Given the description of an element on the screen output the (x, y) to click on. 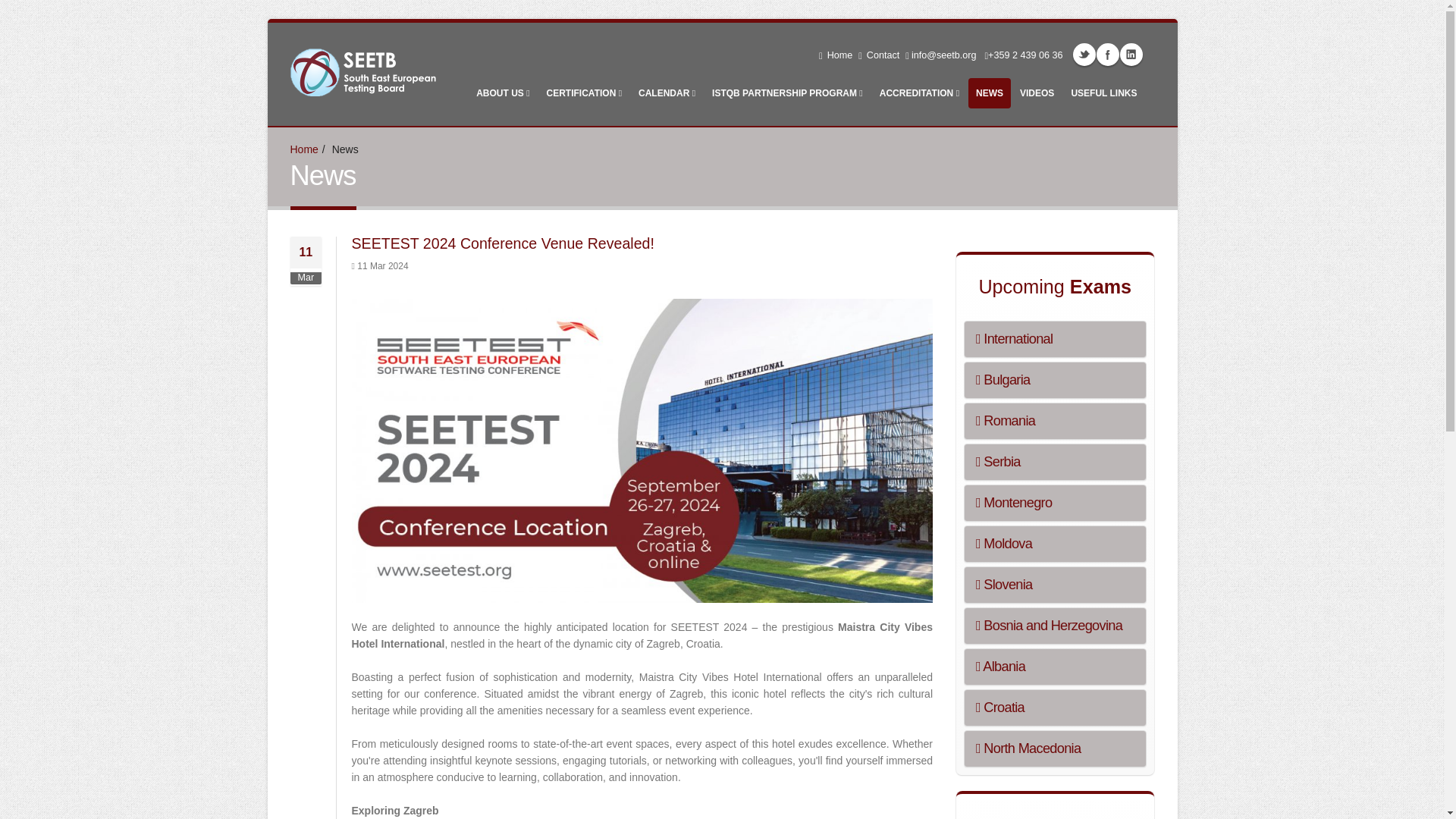
Facebook (1107, 54)
Twitter (1082, 54)
CALENDAR  (666, 92)
Home (835, 54)
Contact (878, 54)
ABOUT US  (502, 92)
LinkedIn (1130, 54)
ISTQB PARTNERSHIP PROGRAM  (787, 92)
Twitter (1082, 54)
Facebook (1107, 54)
